Given the description of an element on the screen output the (x, y) to click on. 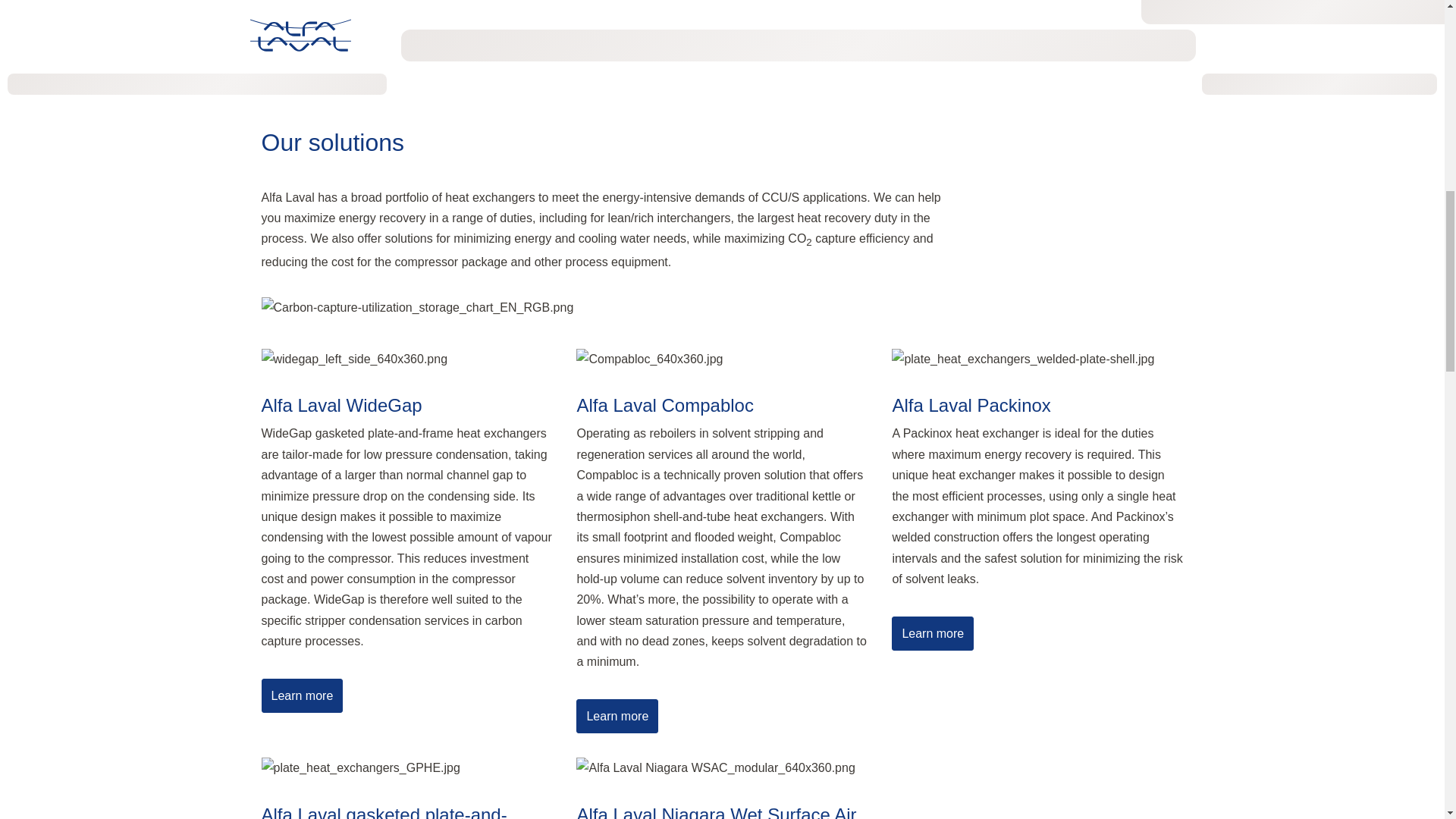
Learn more (301, 695)
Download the report (333, 78)
Download the report (333, 78)
Learn more (932, 633)
Learn more (617, 716)
